Given the description of an element on the screen output the (x, y) to click on. 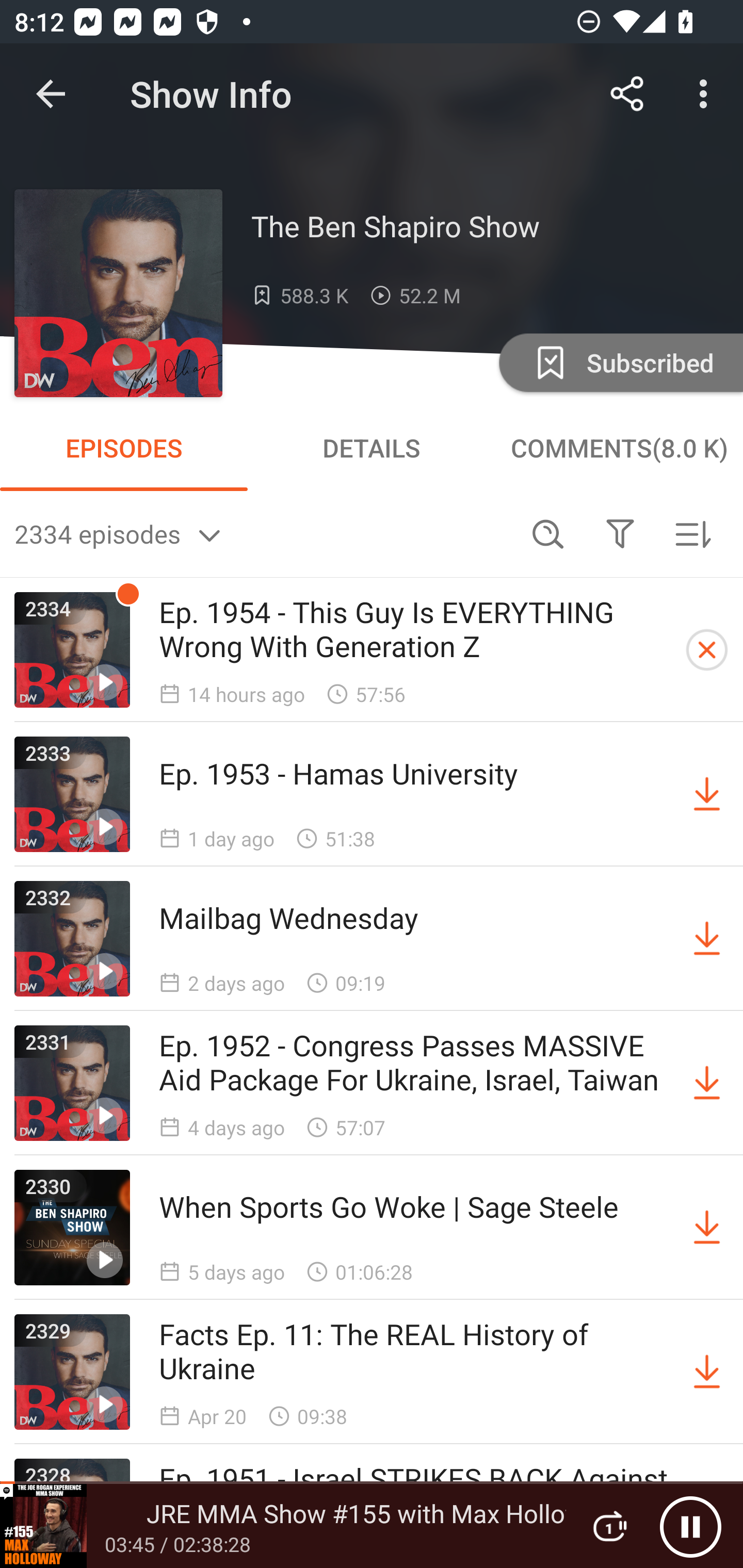
Navigate up (50, 93)
Share (626, 93)
More options (706, 93)
Unsubscribe Subscribed (619, 361)
EPISODES (123, 447)
DETAILS (371, 447)
COMMENTS(8.0 K) (619, 447)
2334 episodes  (262, 533)
 Search (547, 533)
 (619, 533)
 Sorted by newest first (692, 533)
Cancel Downloading (706, 649)
Download (706, 793)
